Given the description of an element on the screen output the (x, y) to click on. 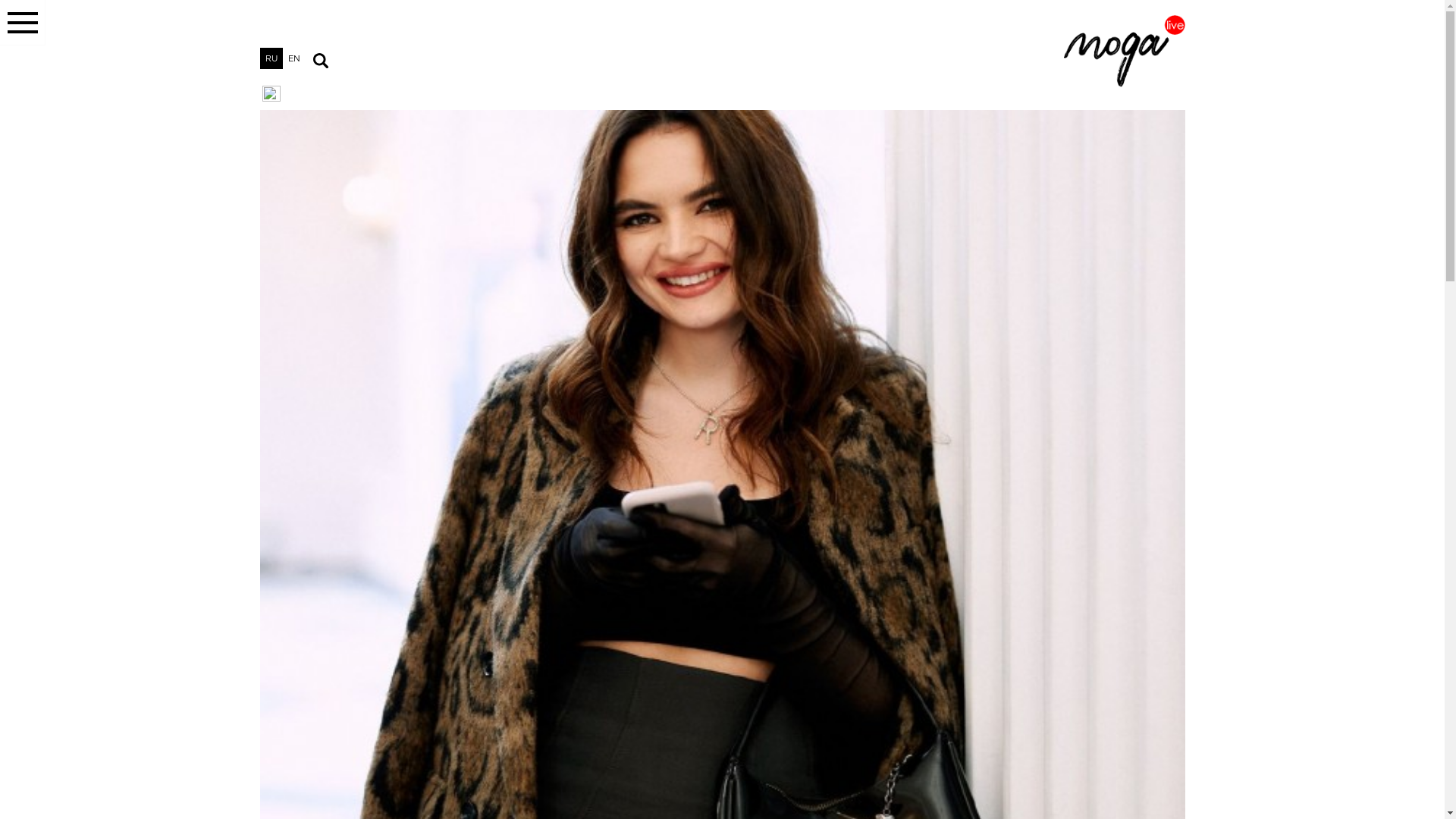
RU Element type: text (270, 57)
EN Element type: text (293, 57)
